Given the description of an element on the screen output the (x, y) to click on. 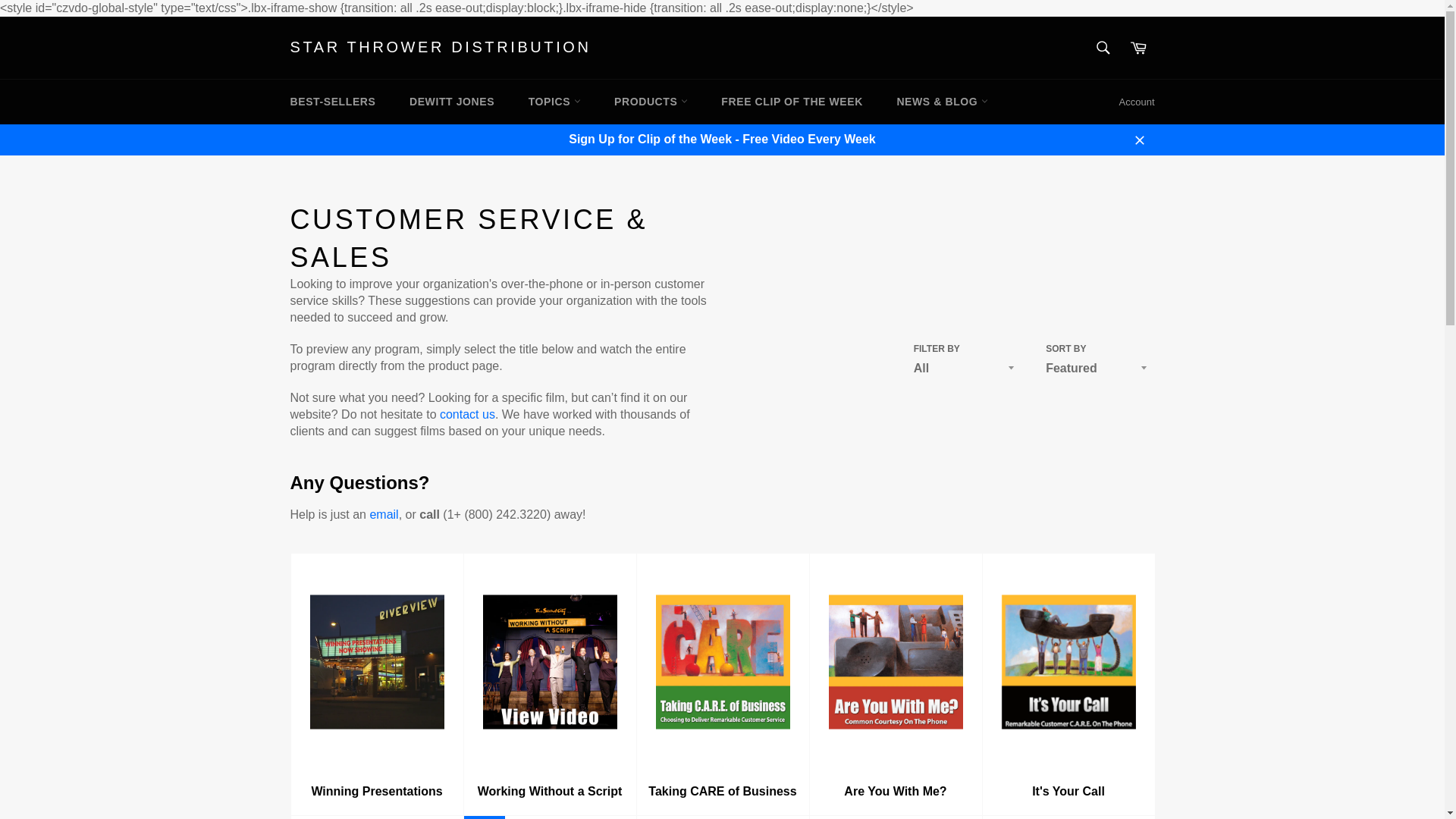
Cart (1138, 47)
STAR THROWER DISTRIBUTION (440, 47)
BEST-SELLERS (332, 101)
Contact Star Thrower Distribution (467, 413)
TOPICS (554, 101)
Search (1103, 47)
DEWITT JONES (451, 101)
